Given the description of an element on the screen output the (x, y) to click on. 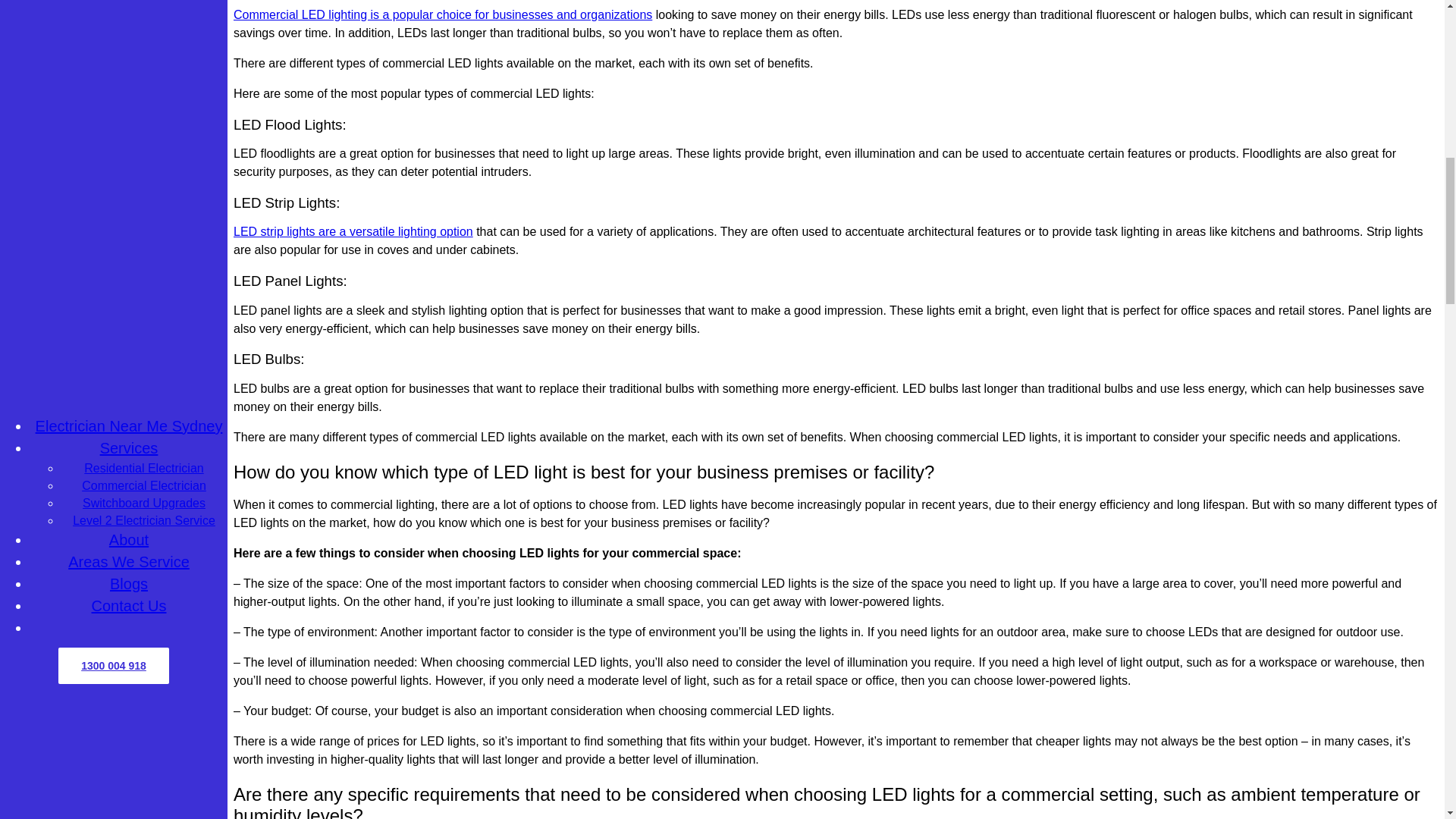
LED strip lights are a versatile lighting option (352, 231)
